Given the description of an element on the screen output the (x, y) to click on. 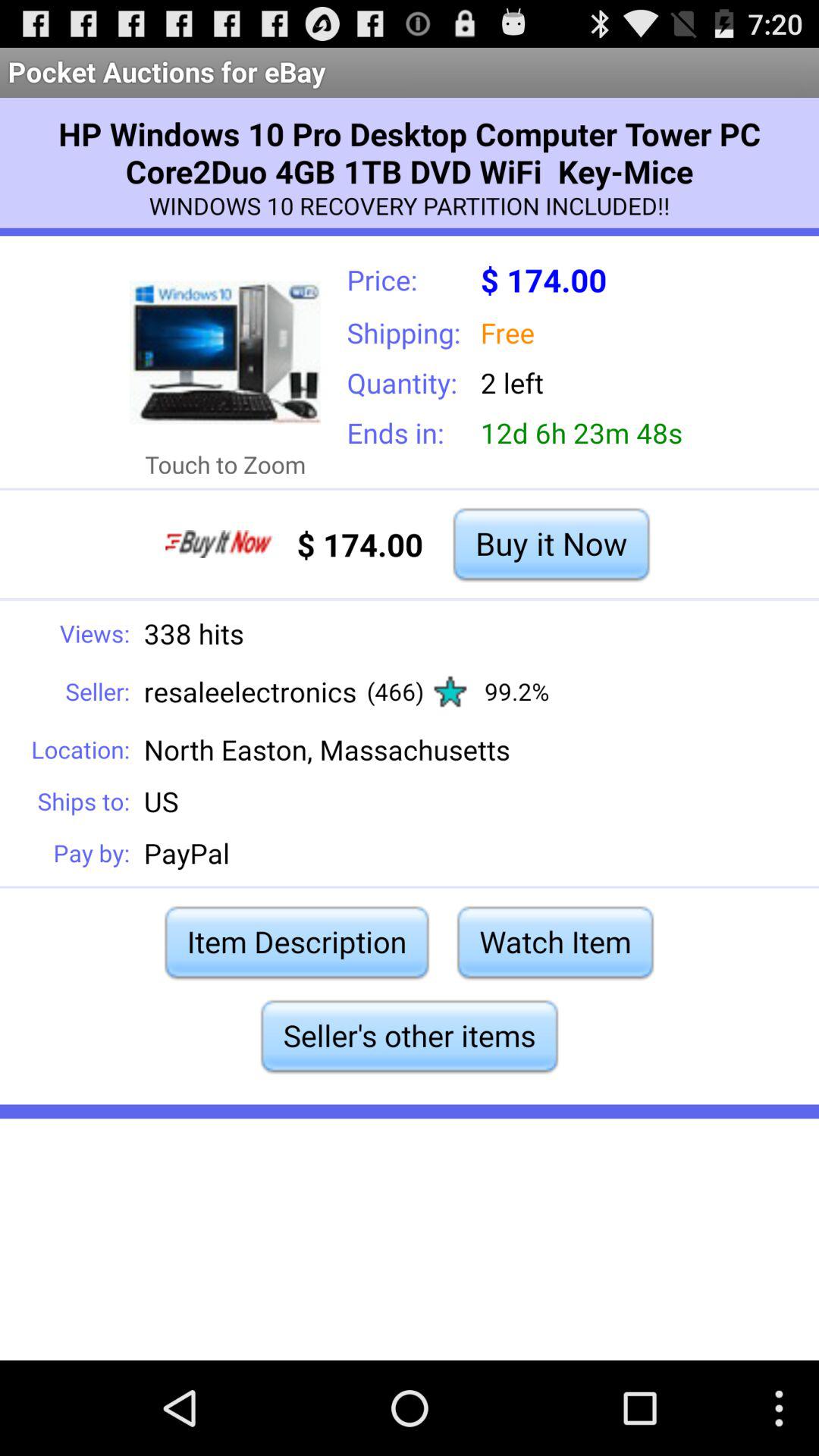
turn on icon to the left of watch item button (296, 942)
